Given the description of an element on the screen output the (x, y) to click on. 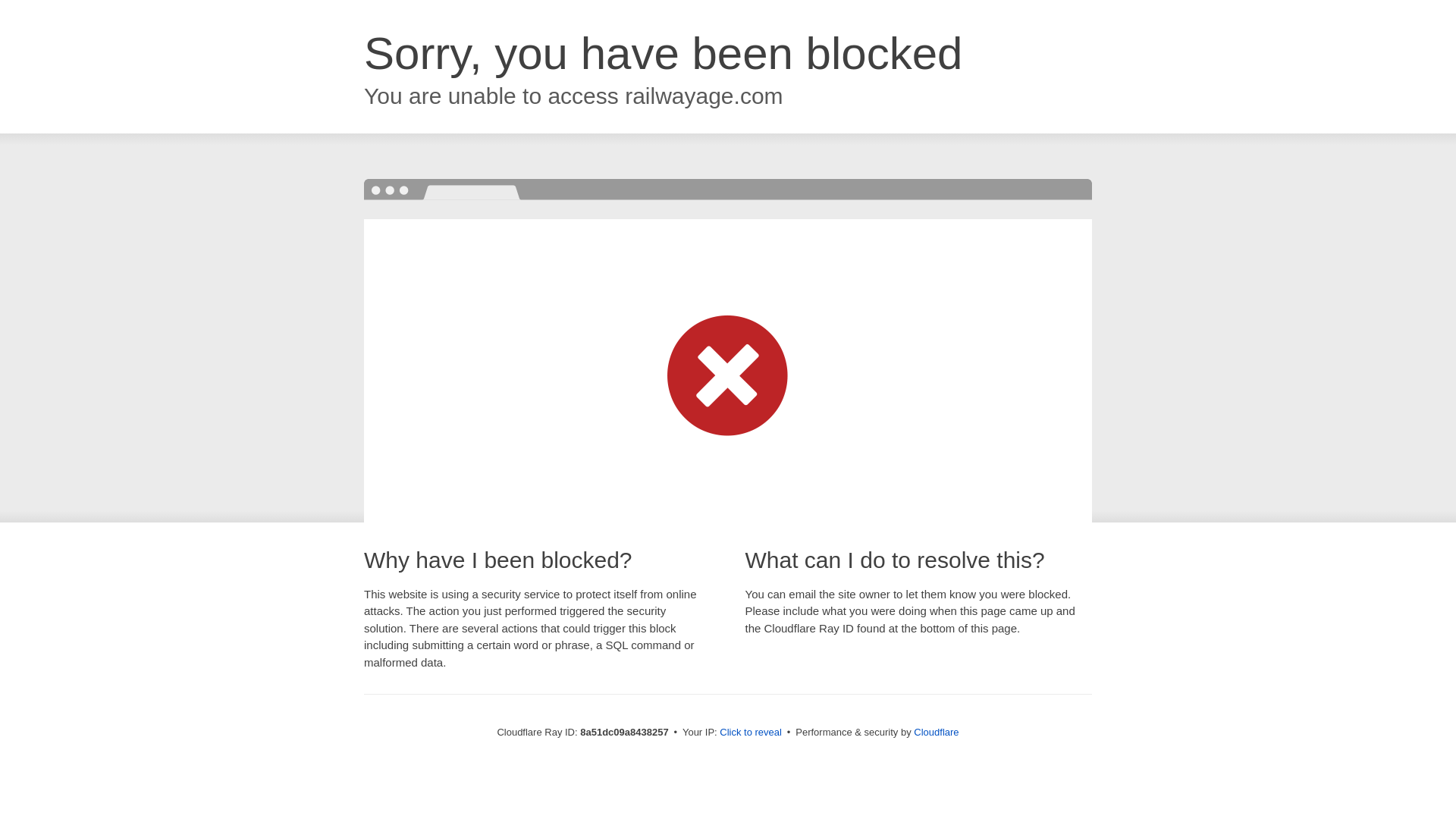
Click to reveal (750, 732)
Cloudflare (936, 731)
